Given the description of an element on the screen output the (x, y) to click on. 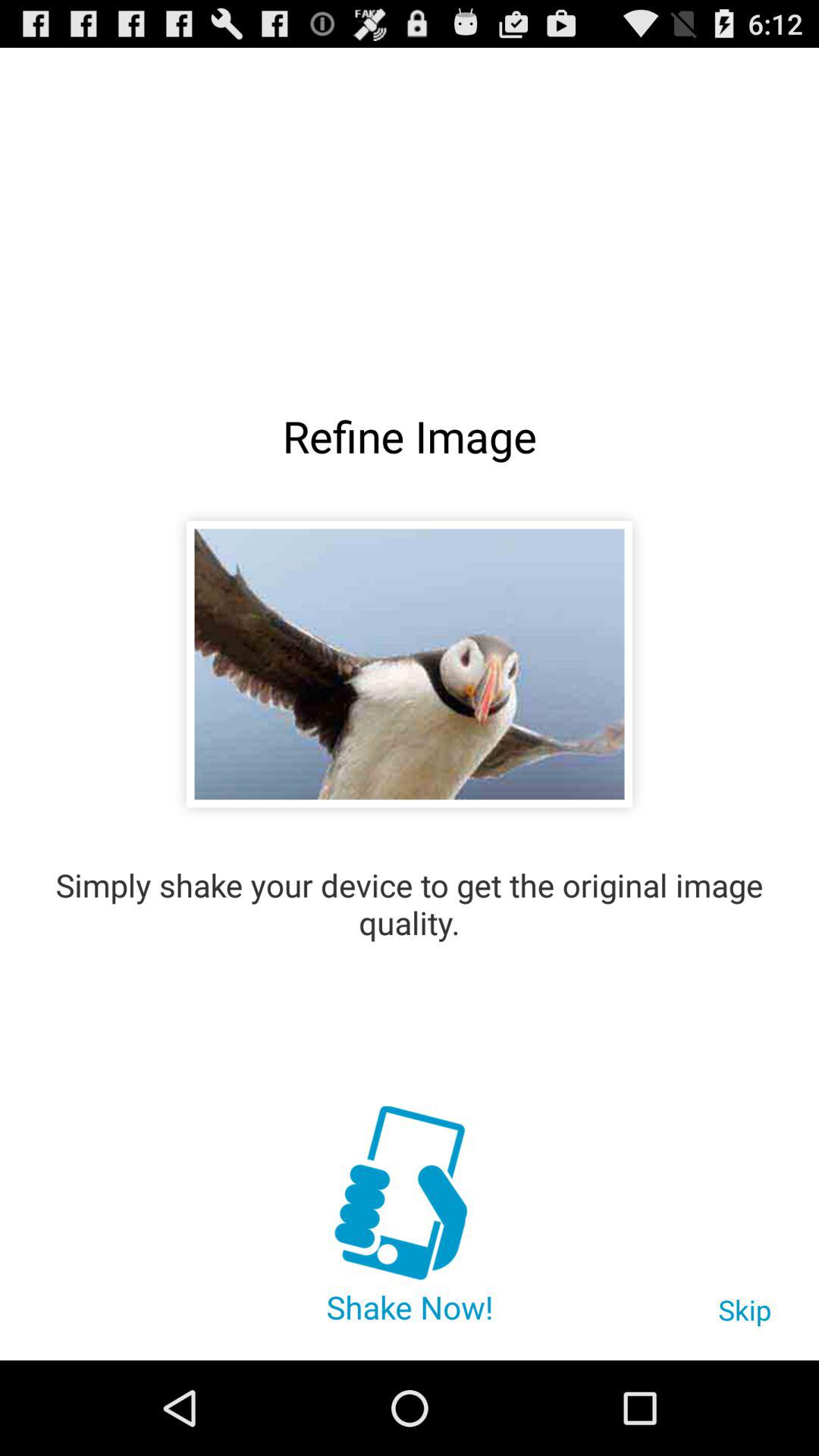
open the item below the simply shake your item (744, 1317)
